Given the description of an element on the screen output the (x, y) to click on. 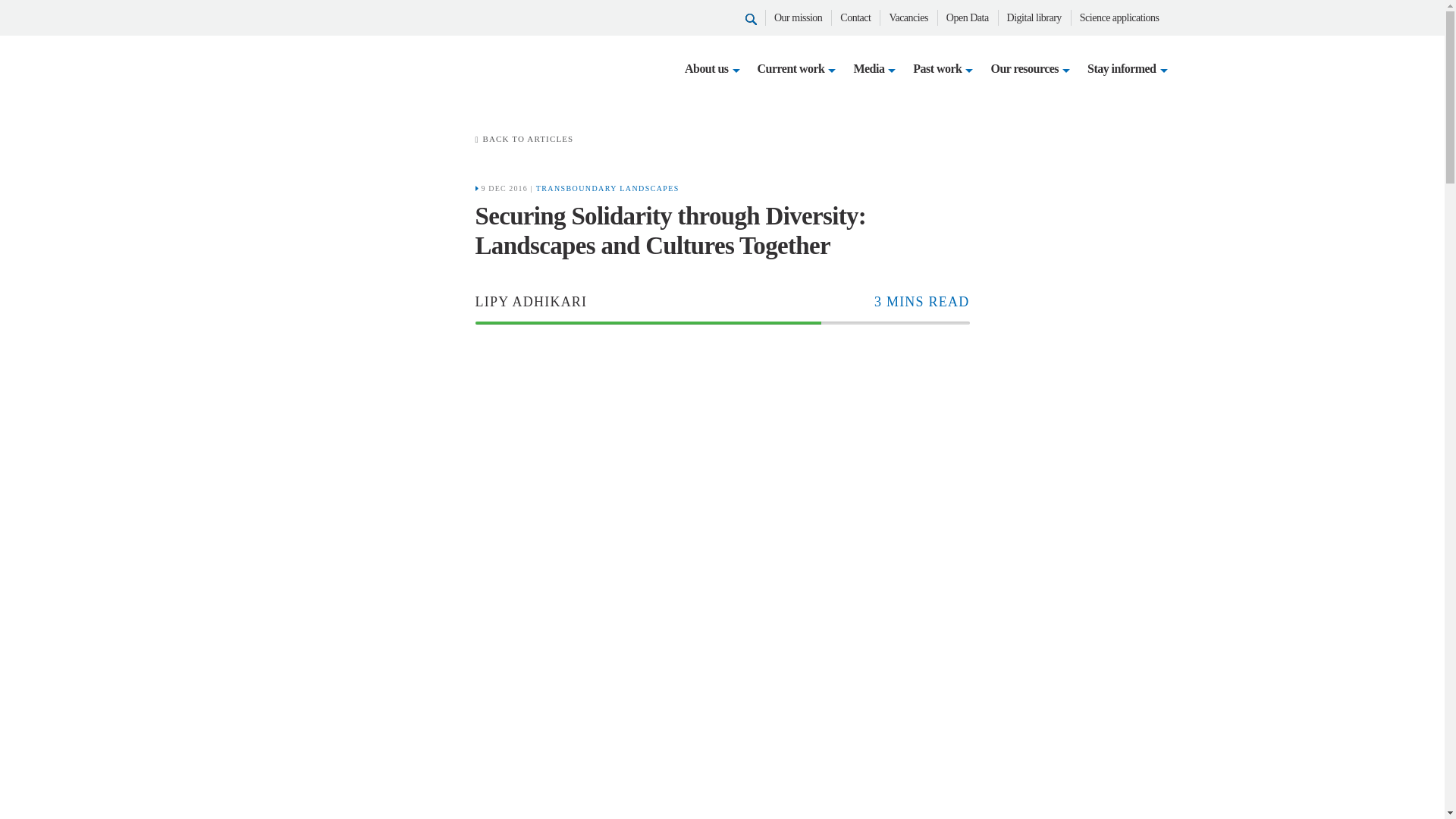
Current work (788, 68)
Contact (855, 17)
Vacancies (907, 17)
About us (704, 68)
Open Data (967, 17)
Our mission (798, 17)
Digital library (1034, 17)
About us (704, 68)
Science applications (1119, 17)
